Given the description of an element on the screen output the (x, y) to click on. 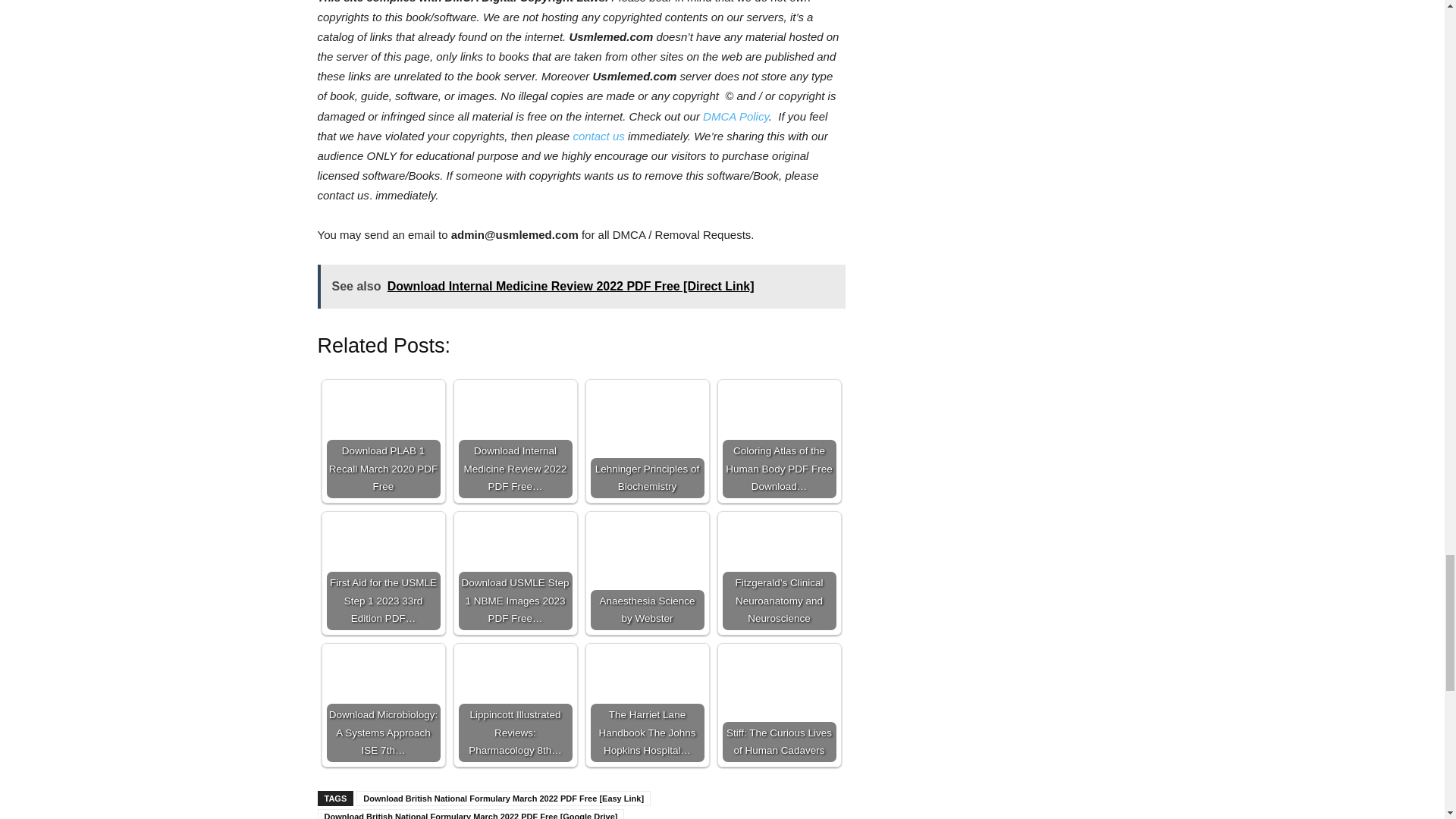
Lehninger Principles of Biochemistry (646, 440)
DMCA Policy (735, 115)
Download PLAB 1 Recall March 2020 PDF Free (382, 440)
Anaesthesia Science by Webster (646, 572)
contact us (598, 135)
